Given the description of an element on the screen output the (x, y) to click on. 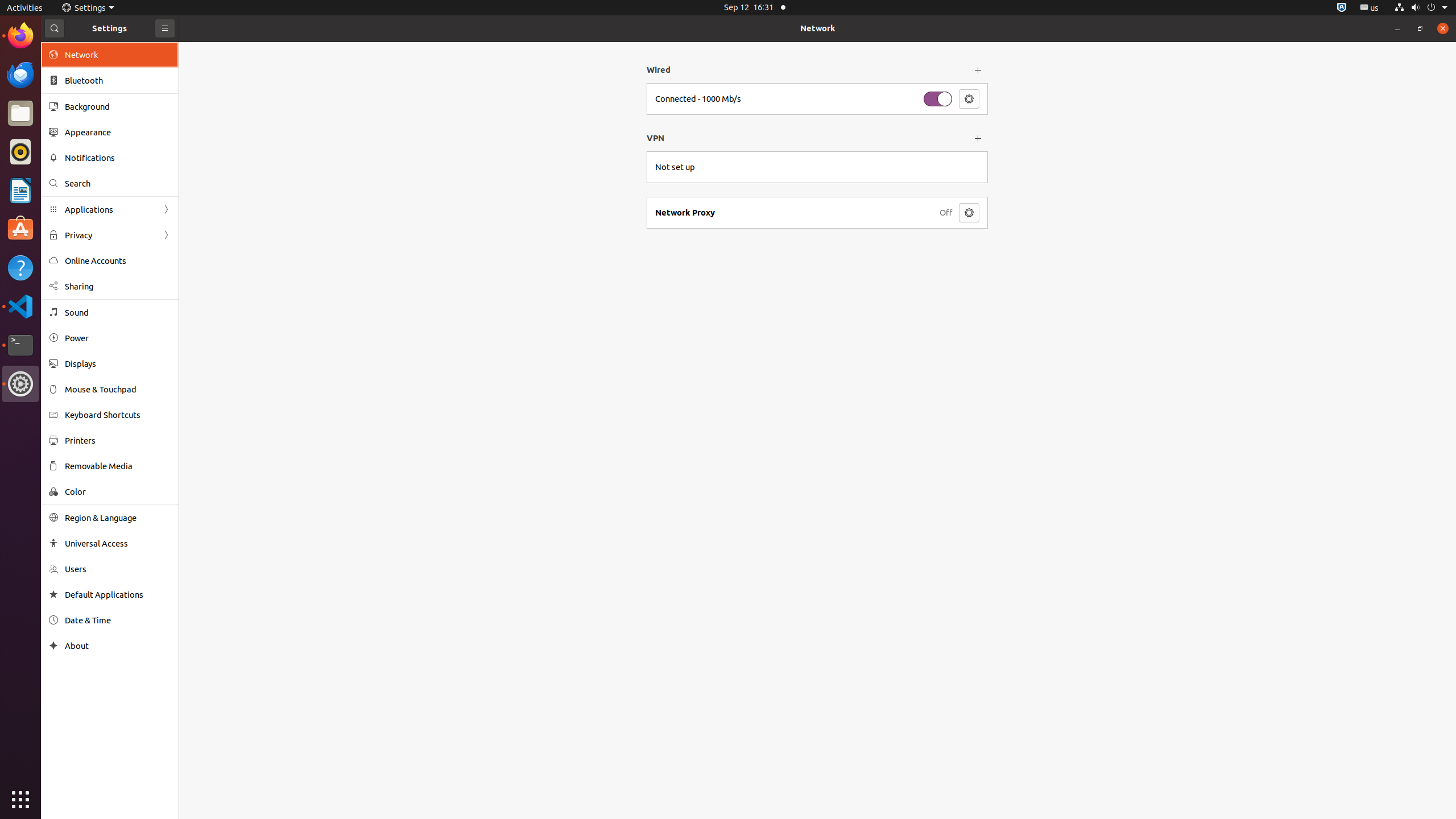
Sharing Element type: label (117, 286)
Activities Element type: label (24, 7)
Bluetooth Element type: label (117, 80)
VPN Element type: label (806, 137)
Online Accounts Element type: label (117, 260)
